Given the description of an element on the screen output the (x, y) to click on. 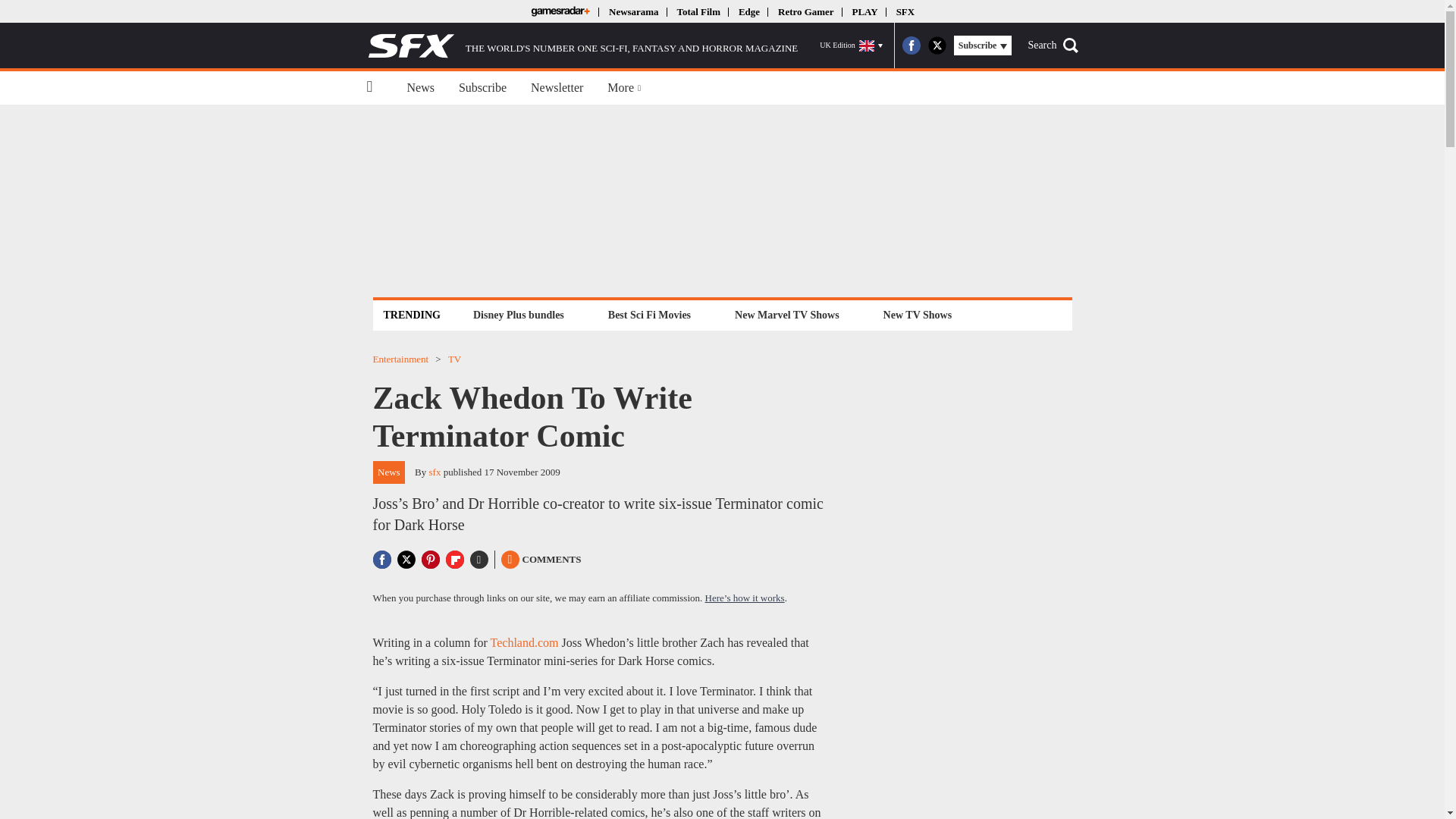
Total Film (698, 11)
Disney Plus bundles (518, 314)
Subscribe (482, 87)
Retro Gamer (805, 11)
Newsletter (556, 87)
Edge (749, 11)
Entertainment (400, 358)
News (419, 87)
UK Edition (850, 45)
Best Sci Fi Movies (648, 314)
PLAY (864, 11)
New Marvel TV Shows (786, 314)
New TV Shows (917, 314)
Newsarama (633, 11)
THE WORLD'S NUMBER ONE SCI-FI, FANTASY AND HORROR MAGAZINE (581, 44)
